Given the description of an element on the screen output the (x, y) to click on. 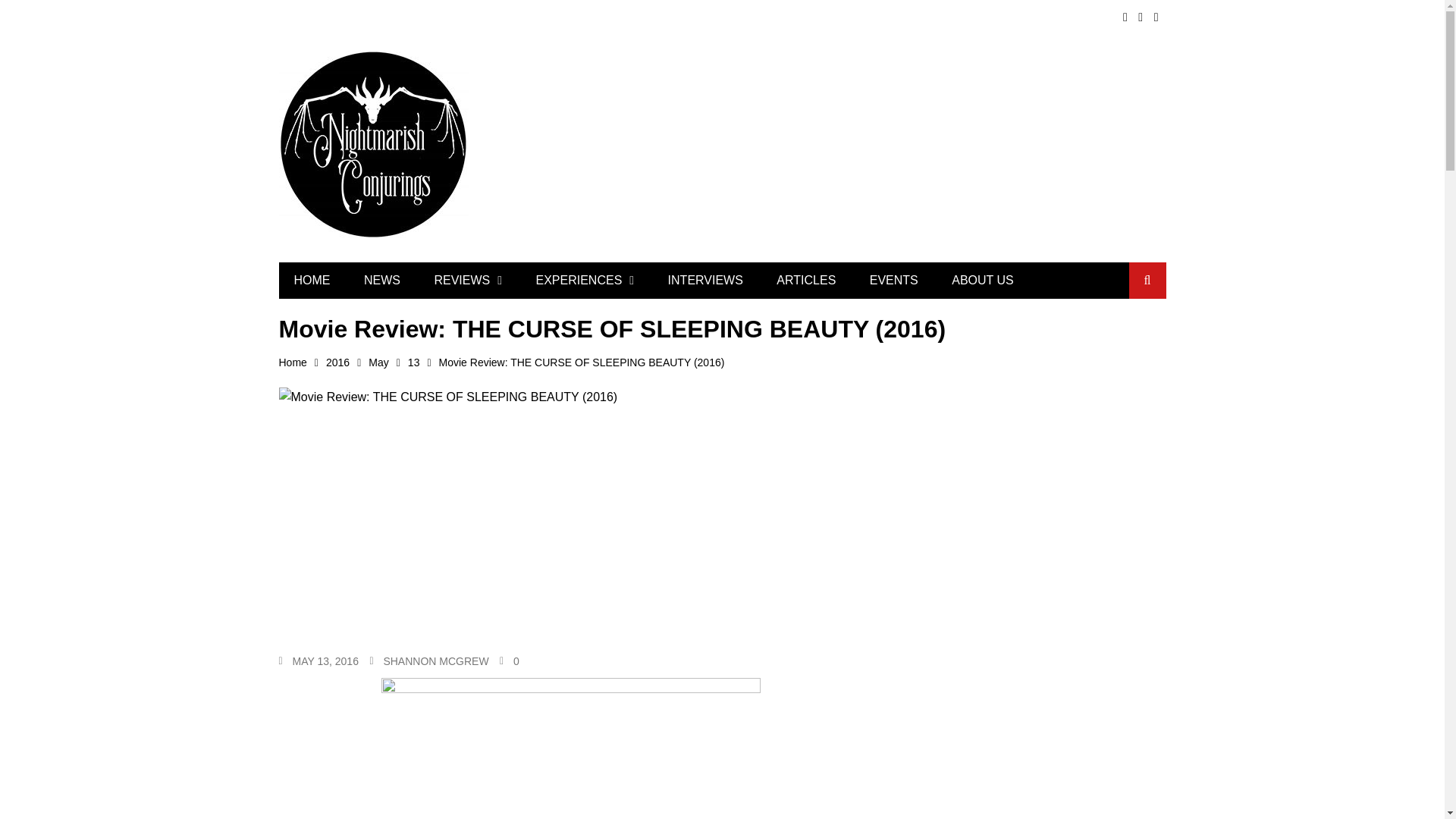
Home (302, 362)
HOME (312, 280)
2016 (347, 362)
MAY 13, 2016 (325, 661)
ARTICLES (805, 280)
REVIEWS (467, 280)
13 (423, 362)
SHANNON MCGREW (434, 661)
EVENTS (893, 280)
NEWS (381, 280)
EXPERIENCES (584, 280)
ABOUT US (982, 280)
INTERVIEWS (705, 280)
May (387, 362)
